Given the description of an element on the screen output the (x, y) to click on. 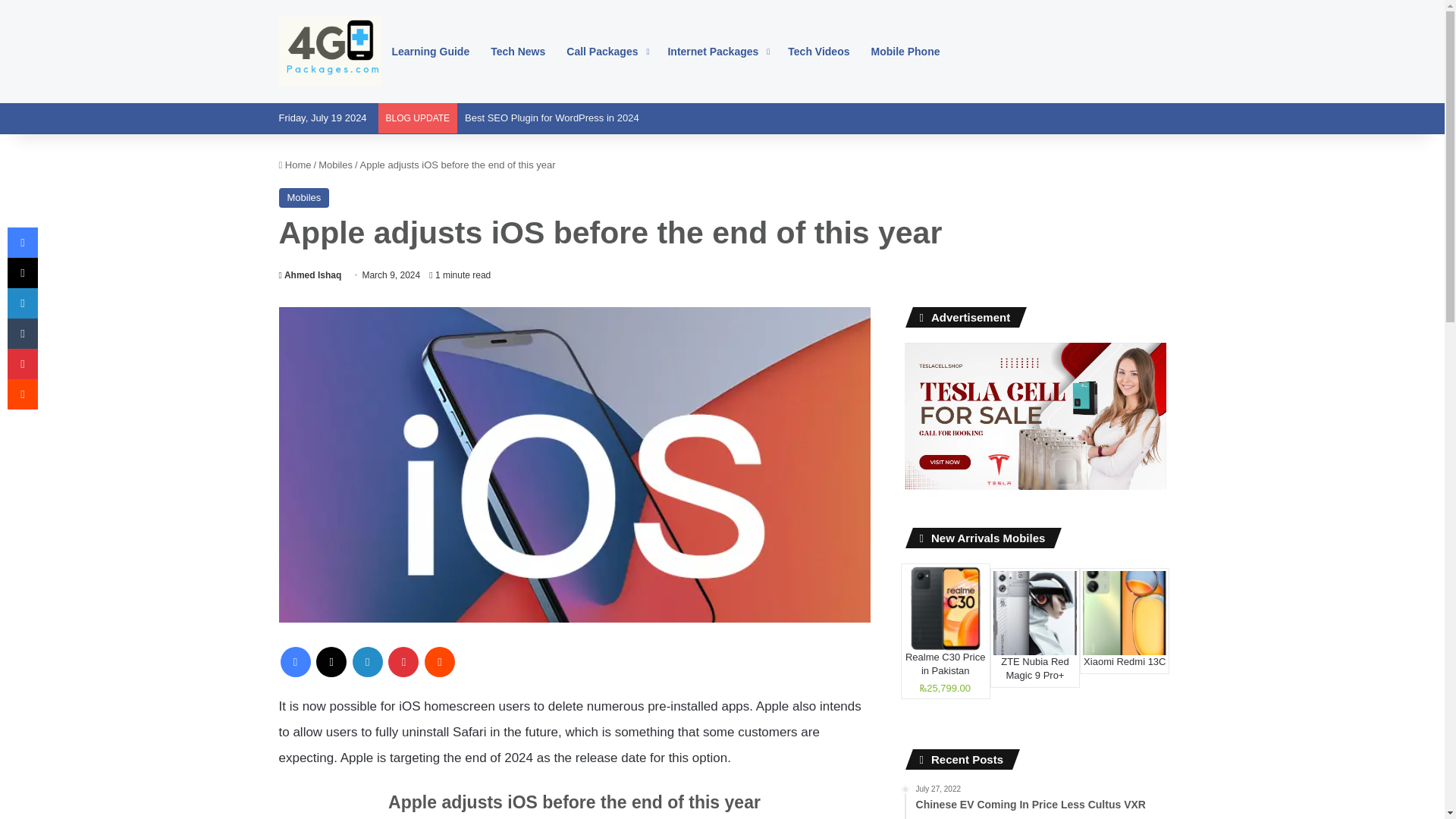
LinkedIn (367, 662)
Mobiles (304, 198)
Facebook (296, 662)
X (330, 662)
Ahmed Ishaq (310, 275)
Home (295, 164)
Pinterest (403, 662)
Call Packages (606, 51)
Best SEO Plugin for WordPress in 2024 (551, 117)
Reddit (439, 662)
X (330, 662)
Mobiles (335, 164)
LinkedIn (367, 662)
Internet Packages (716, 51)
Pinterest (403, 662)
